Given the description of an element on the screen output the (x, y) to click on. 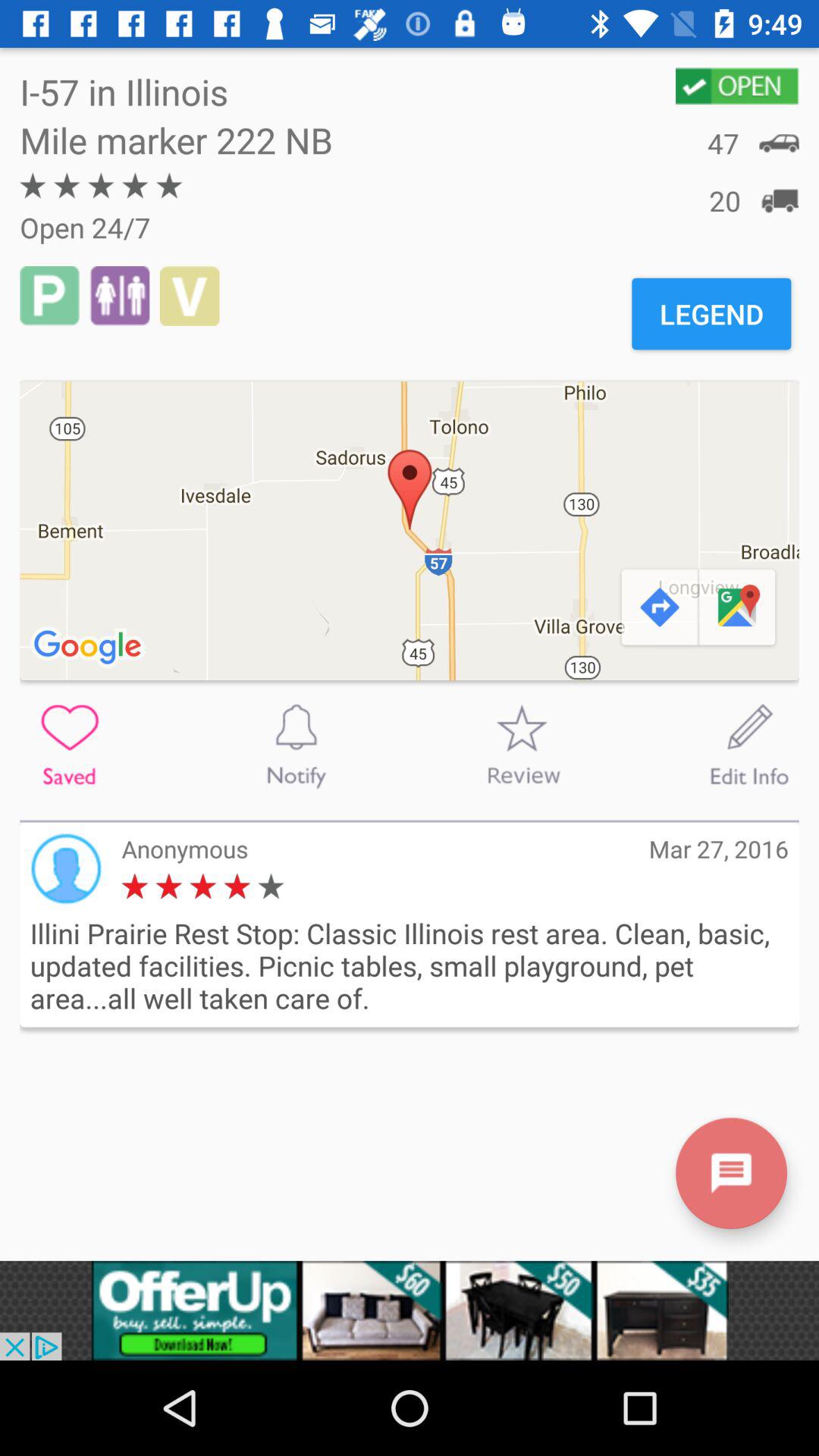
message option (731, 1173)
